Given the description of an element on the screen output the (x, y) to click on. 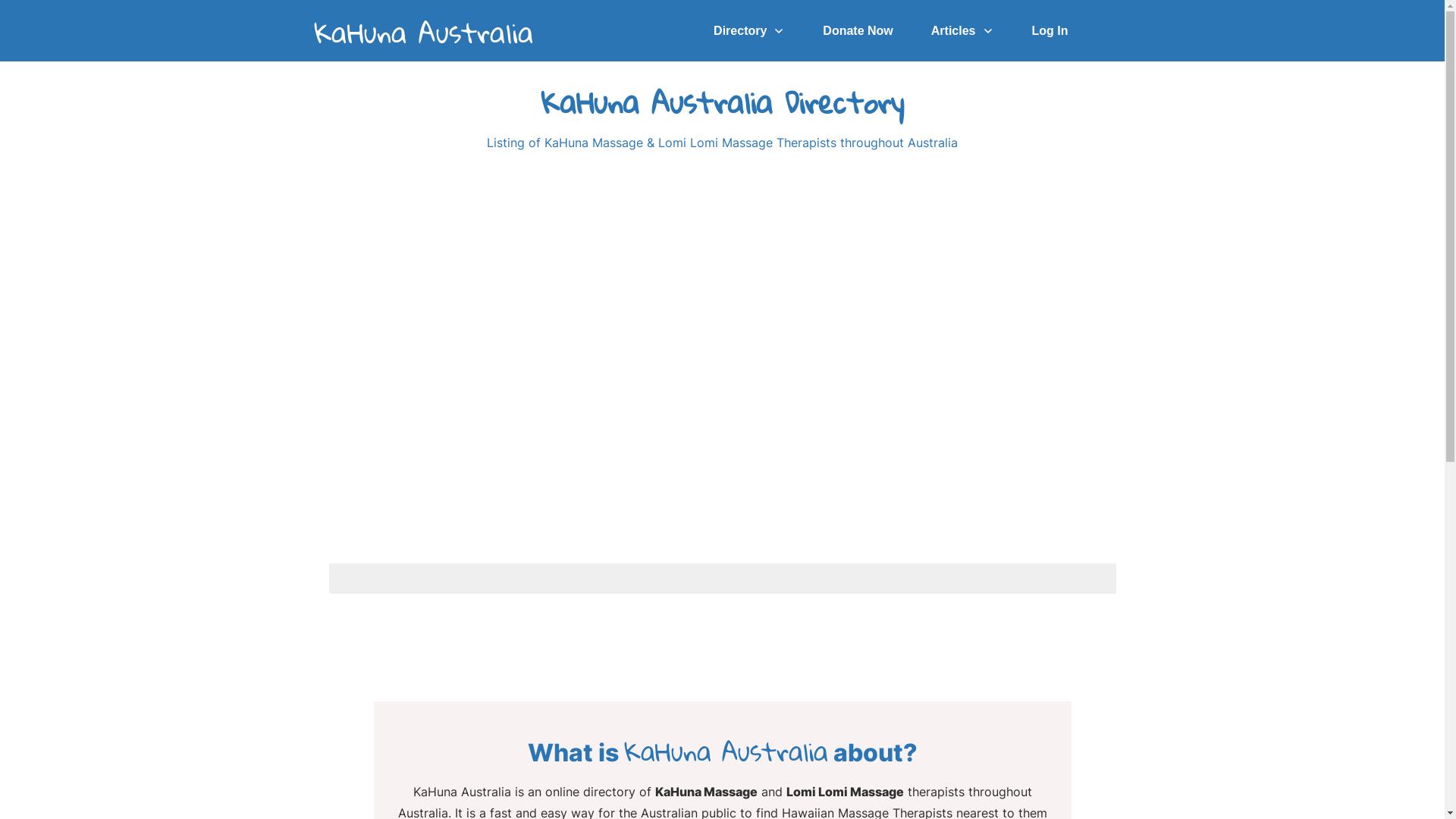
Log In Element type: text (1050, 30)
Donate Now Element type: text (857, 30)
Articles Element type: text (962, 30)
Directory Element type: text (748, 30)
